Given the description of an element on the screen output the (x, y) to click on. 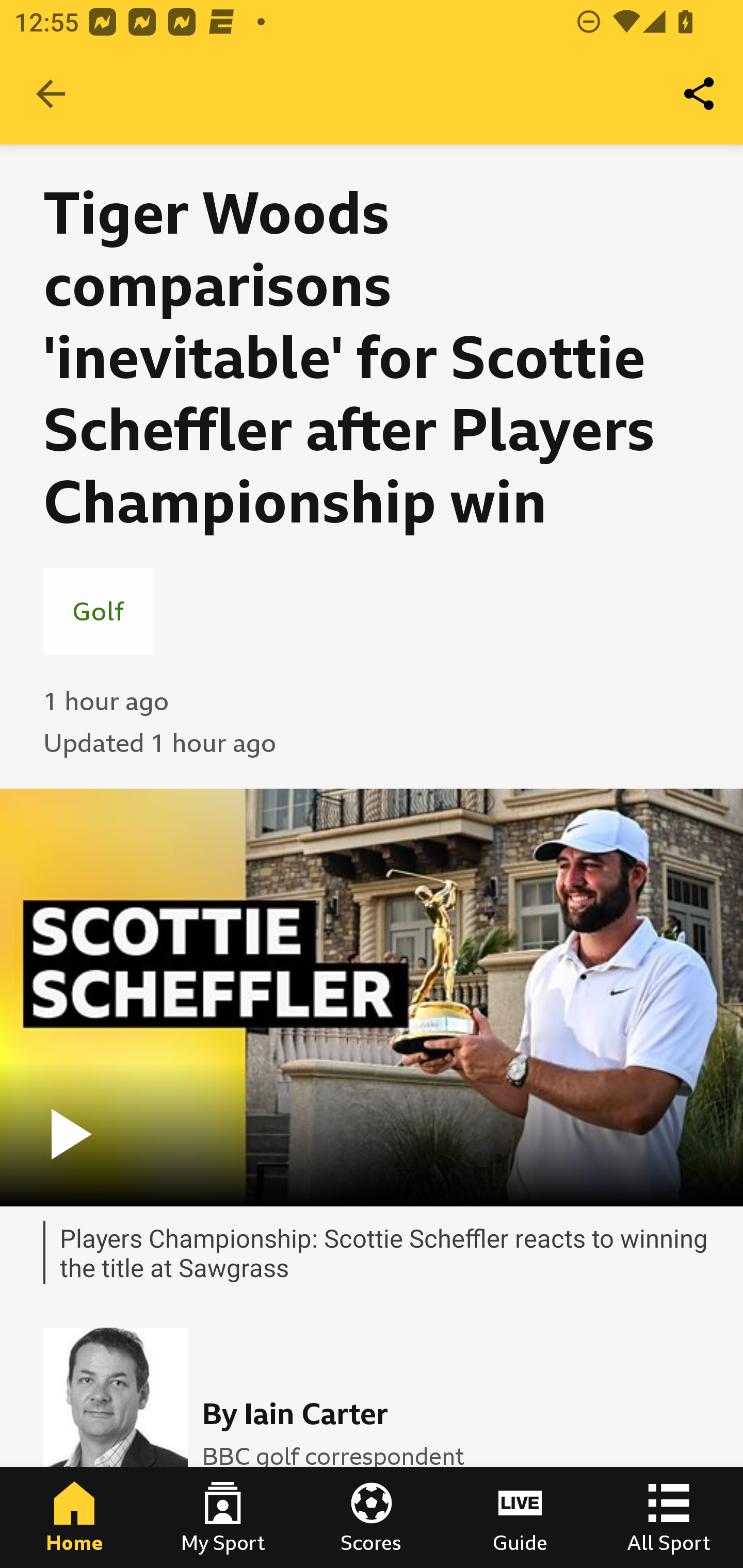
Navigate up (50, 93)
Share (699, 93)
Golf (98, 610)
play fullscreen (371, 996)
My Sport (222, 1517)
Scores (371, 1517)
Guide (519, 1517)
All Sport (668, 1517)
